Given the description of an element on the screen output the (x, y) to click on. 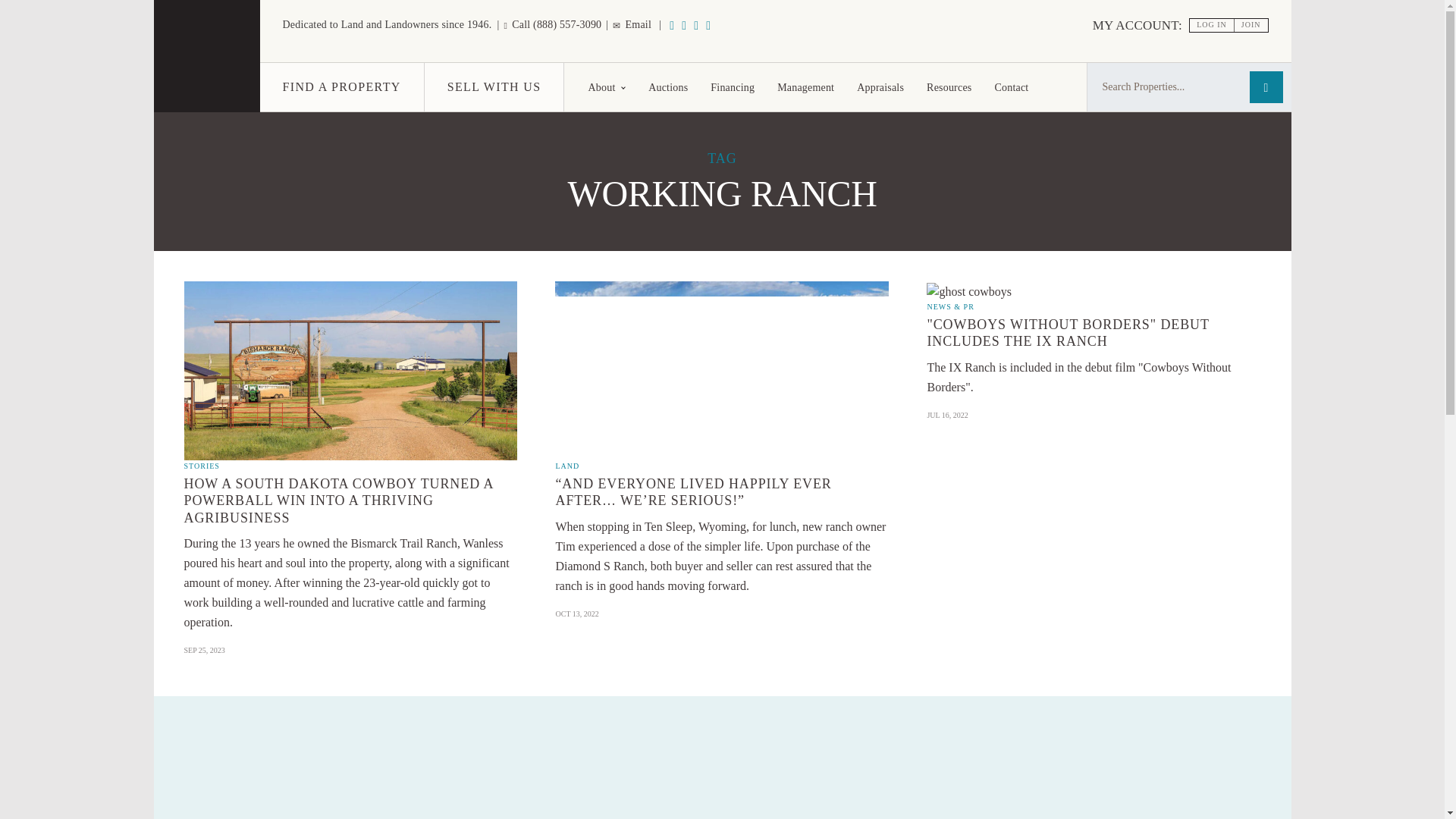
JOIN (1251, 24)
Visit our Facebook (696, 24)
LOG IN (1211, 24)
"Cowboys Without Borders" debut Includes the IX Ranch (968, 291)
About (606, 86)
Appraisals (880, 86)
Hall and Hall - Ranches for Sale (205, 56)
Management (805, 86)
FIND A PROPERTY (341, 87)
Hall and Hall (205, 87)
Resources (948, 86)
Visit our Twitter (708, 24)
Contact (1010, 86)
Financing (731, 86)
